Given the description of an element on the screen output the (x, y) to click on. 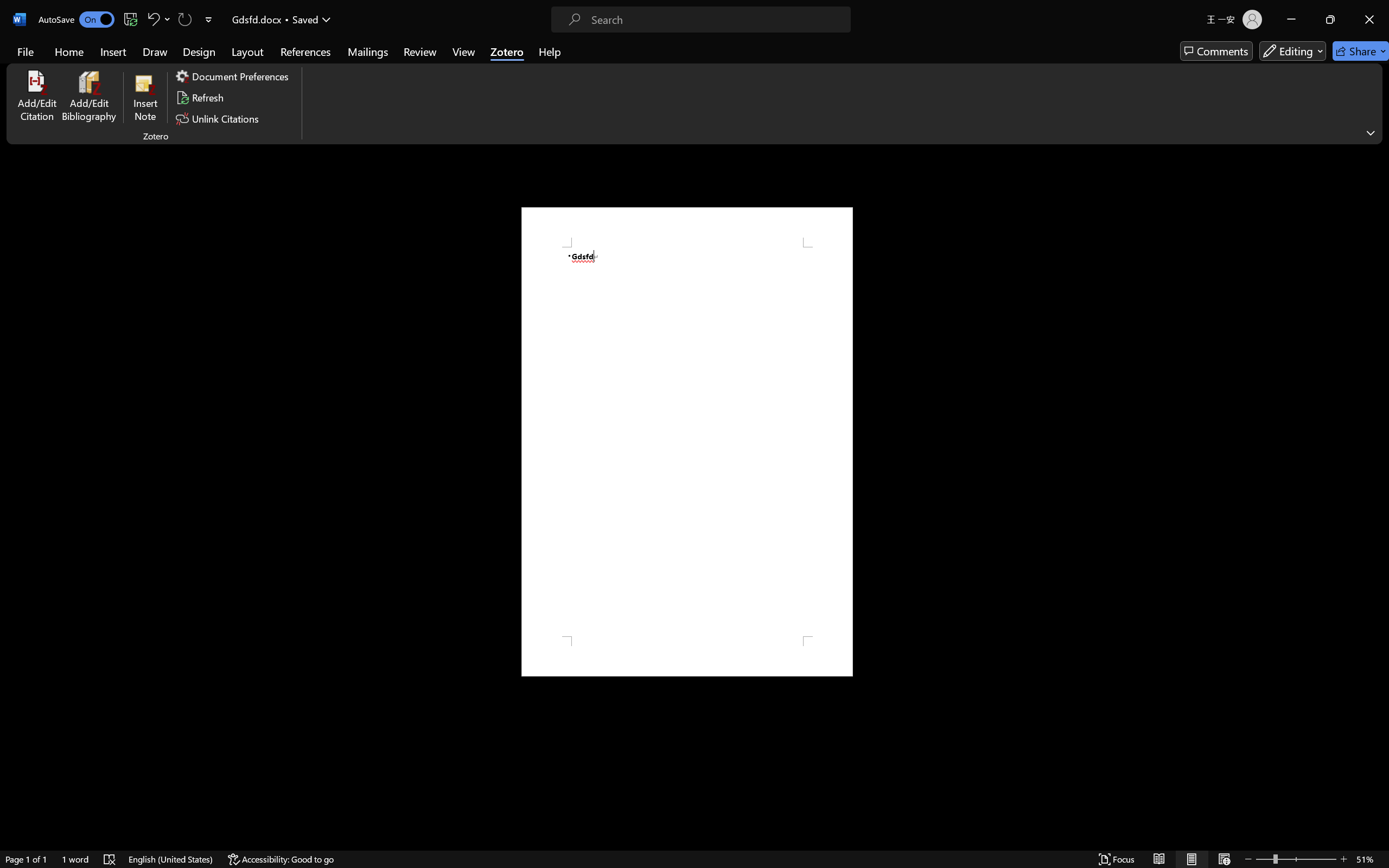
Page 1 content (686, 441)
